Given the description of an element on the screen output the (x, y) to click on. 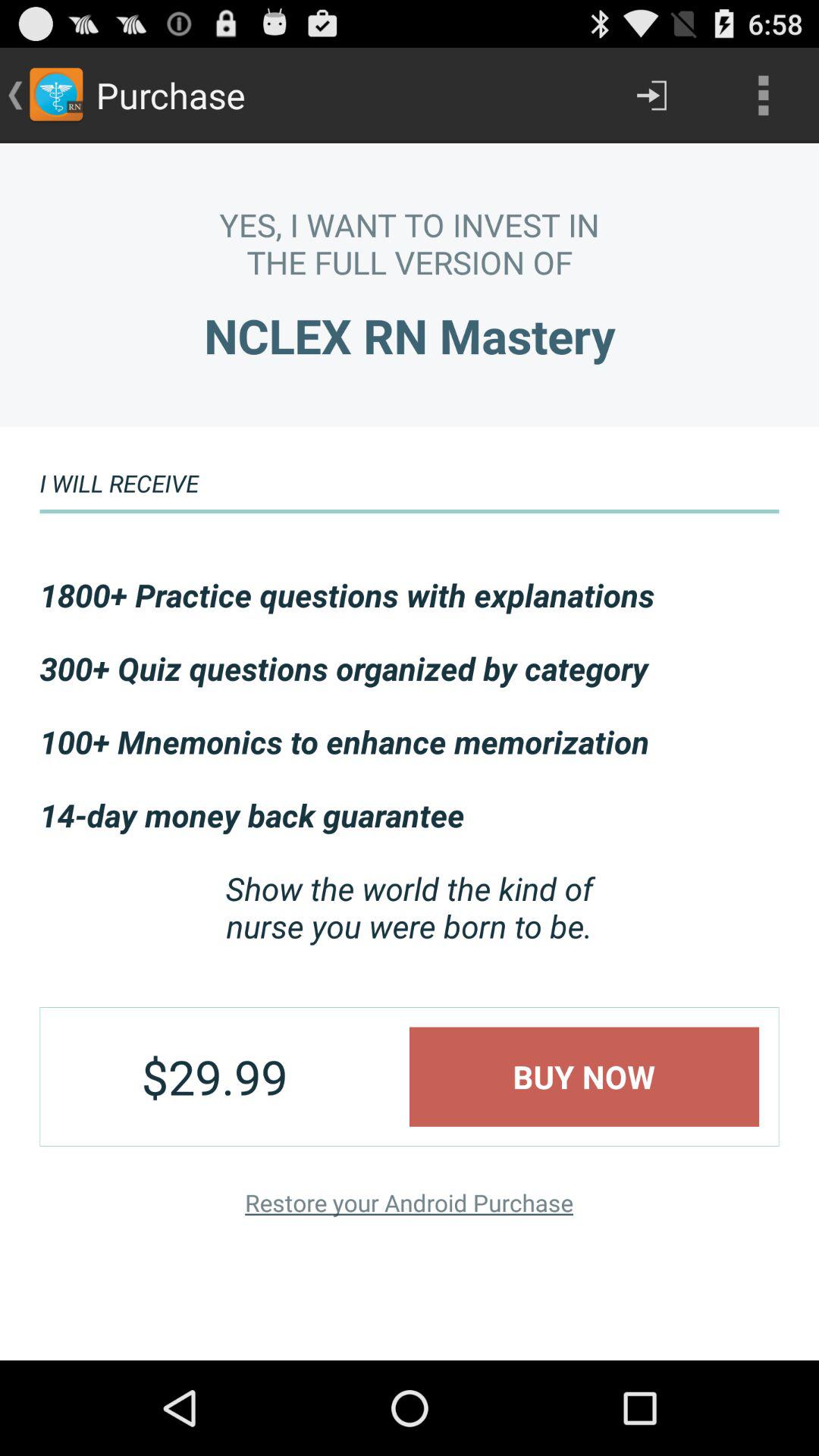
click buy now icon (584, 1076)
